Given the description of an element on the screen output the (x, y) to click on. 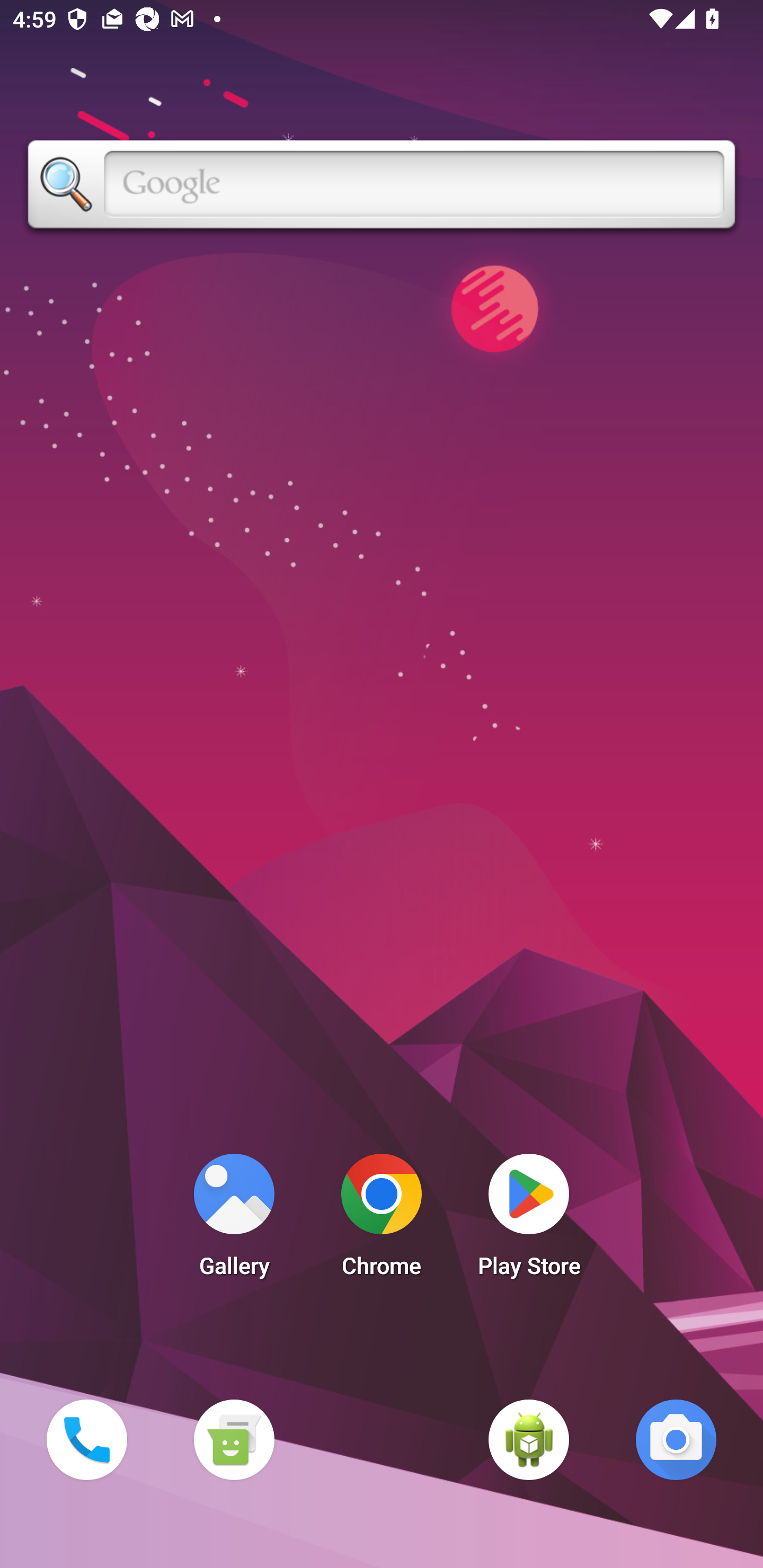
Gallery (233, 1220)
Chrome (381, 1220)
Play Store (528, 1220)
Phone (86, 1439)
Messaging (233, 1439)
WebView Browser Tester (528, 1439)
Camera (676, 1439)
